Given the description of an element on the screen output the (x, y) to click on. 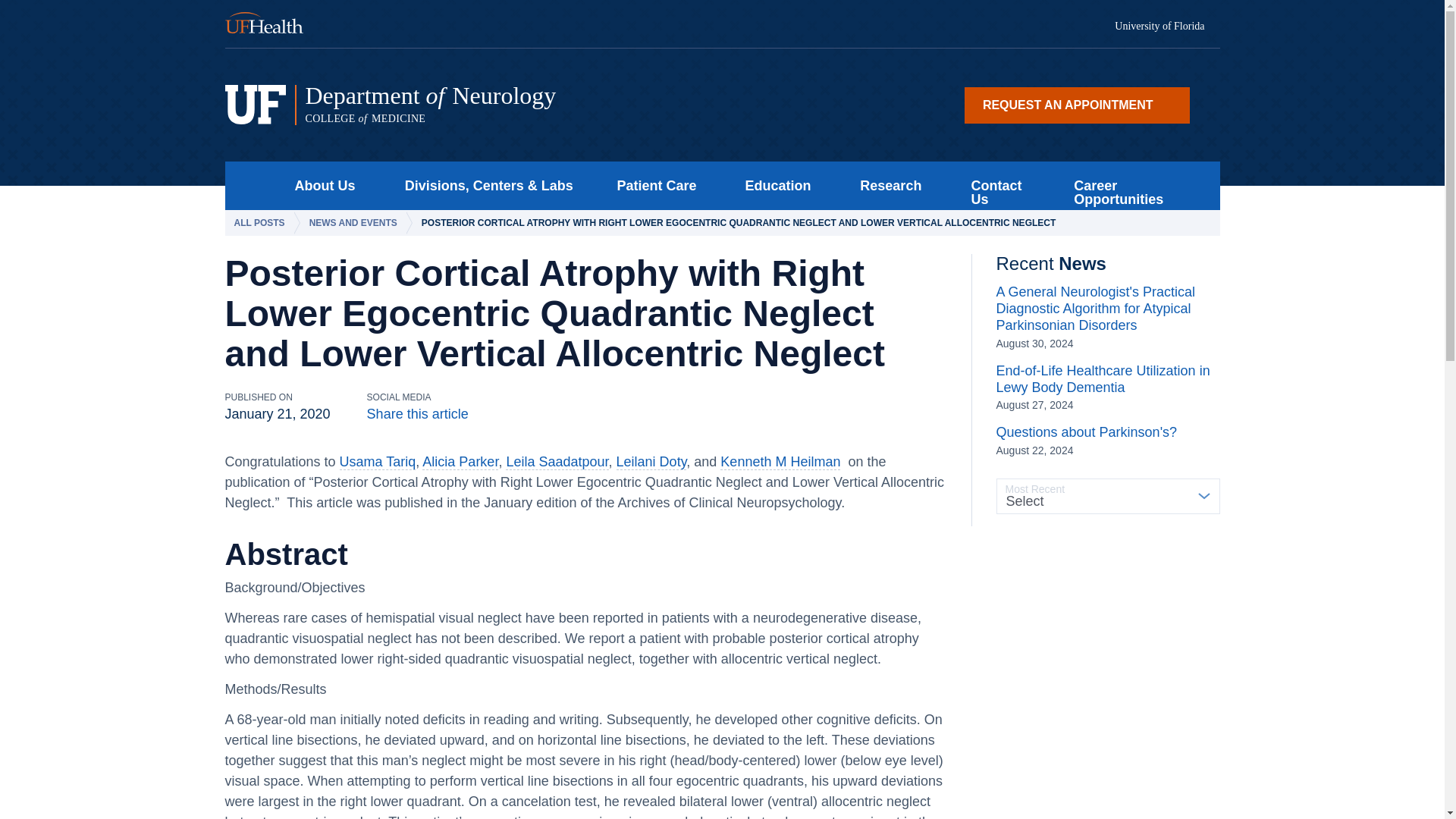
Home (250, 185)
UF Health (272, 24)
Patient Care (652, 185)
REQUEST AN APPOINTMENT (1076, 104)
University of Florida (1167, 26)
Skip to main content (515, 105)
